Given the description of an element on the screen output the (x, y) to click on. 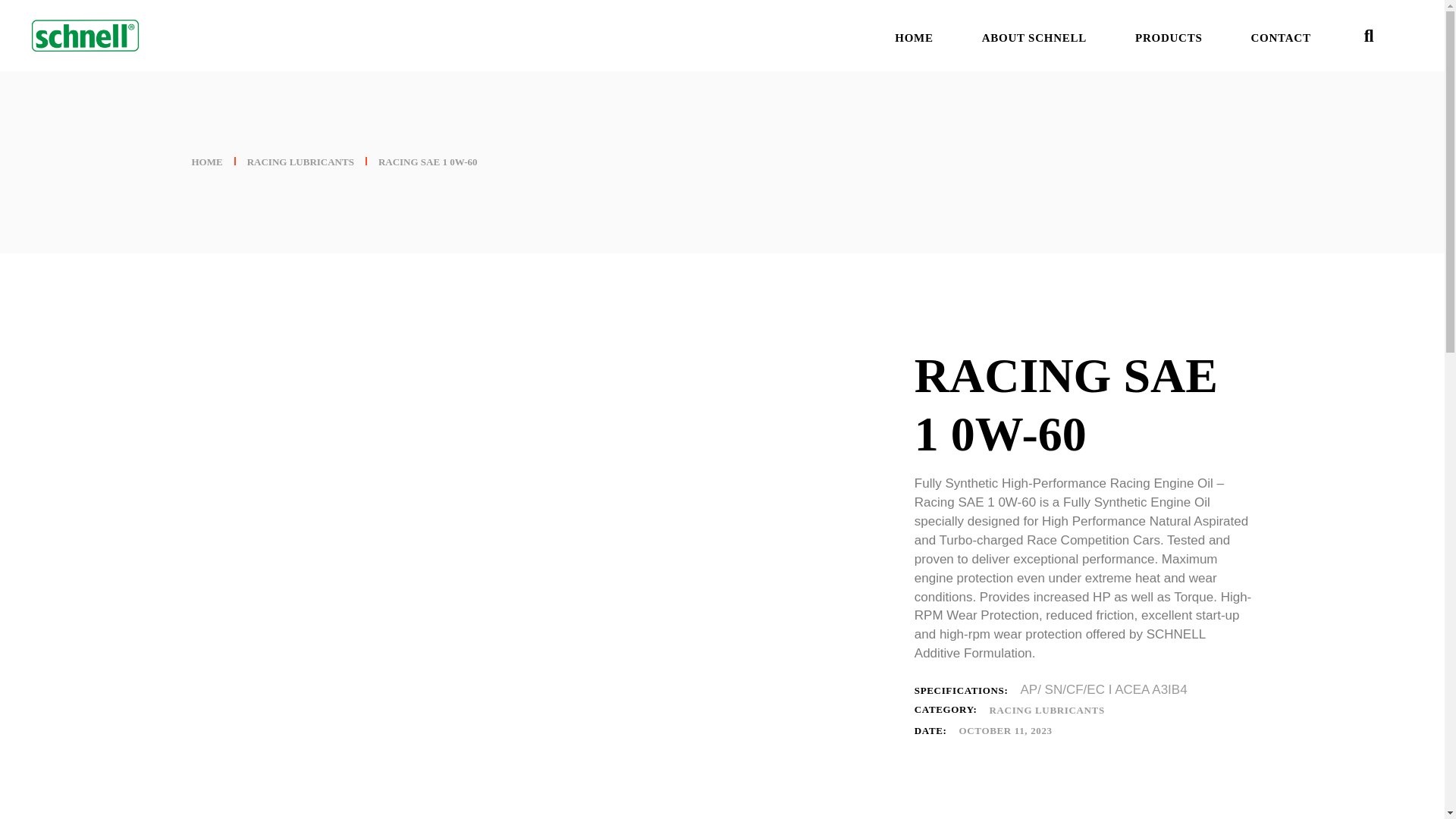
PRODUCTS (1168, 35)
ABOUT SCHNELL (1033, 35)
